Given the description of an element on the screen output the (x, y) to click on. 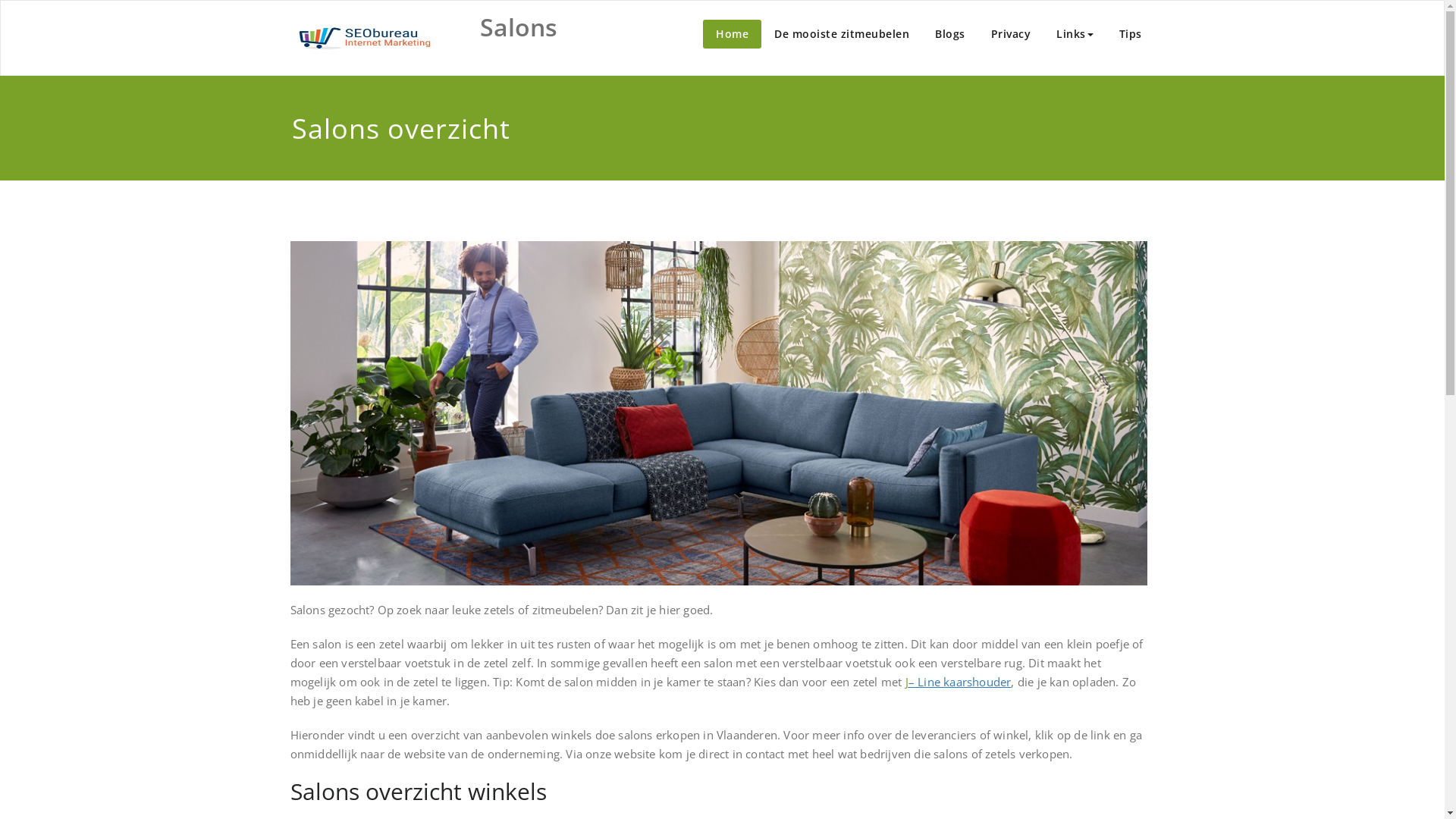
Home Element type: text (731, 33)
De mooiste zitmeubelen Element type: text (841, 33)
J Element type: text (906, 681)
Blogs Element type: text (950, 33)
Salons Element type: text (517, 27)
Links Element type: text (1074, 33)
Privacy Element type: text (1011, 33)
Tips Element type: text (1129, 33)
